Given the description of an element on the screen output the (x, y) to click on. 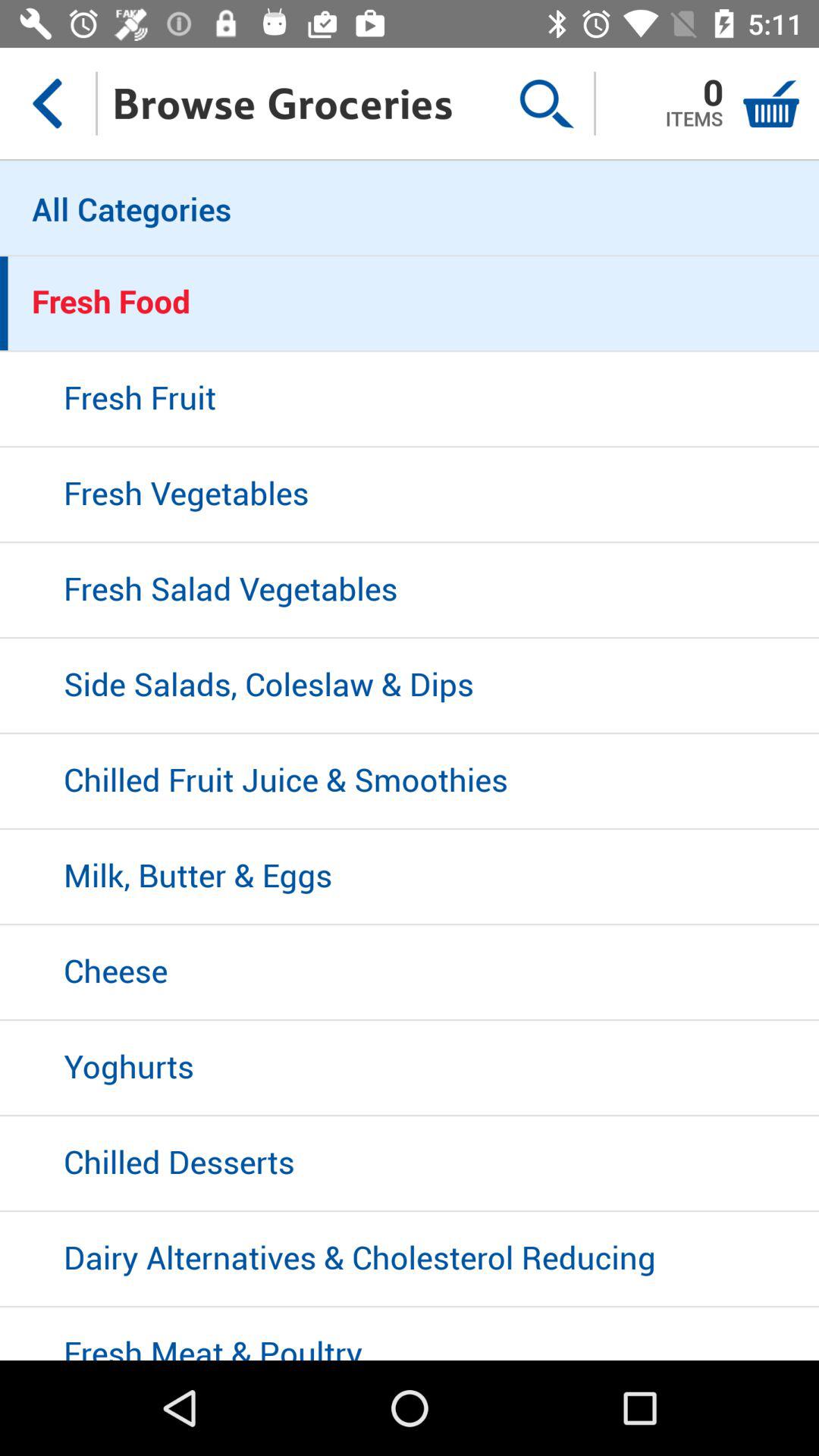
tap icon below the cheese icon (409, 1068)
